Given the description of an element on the screen output the (x, y) to click on. 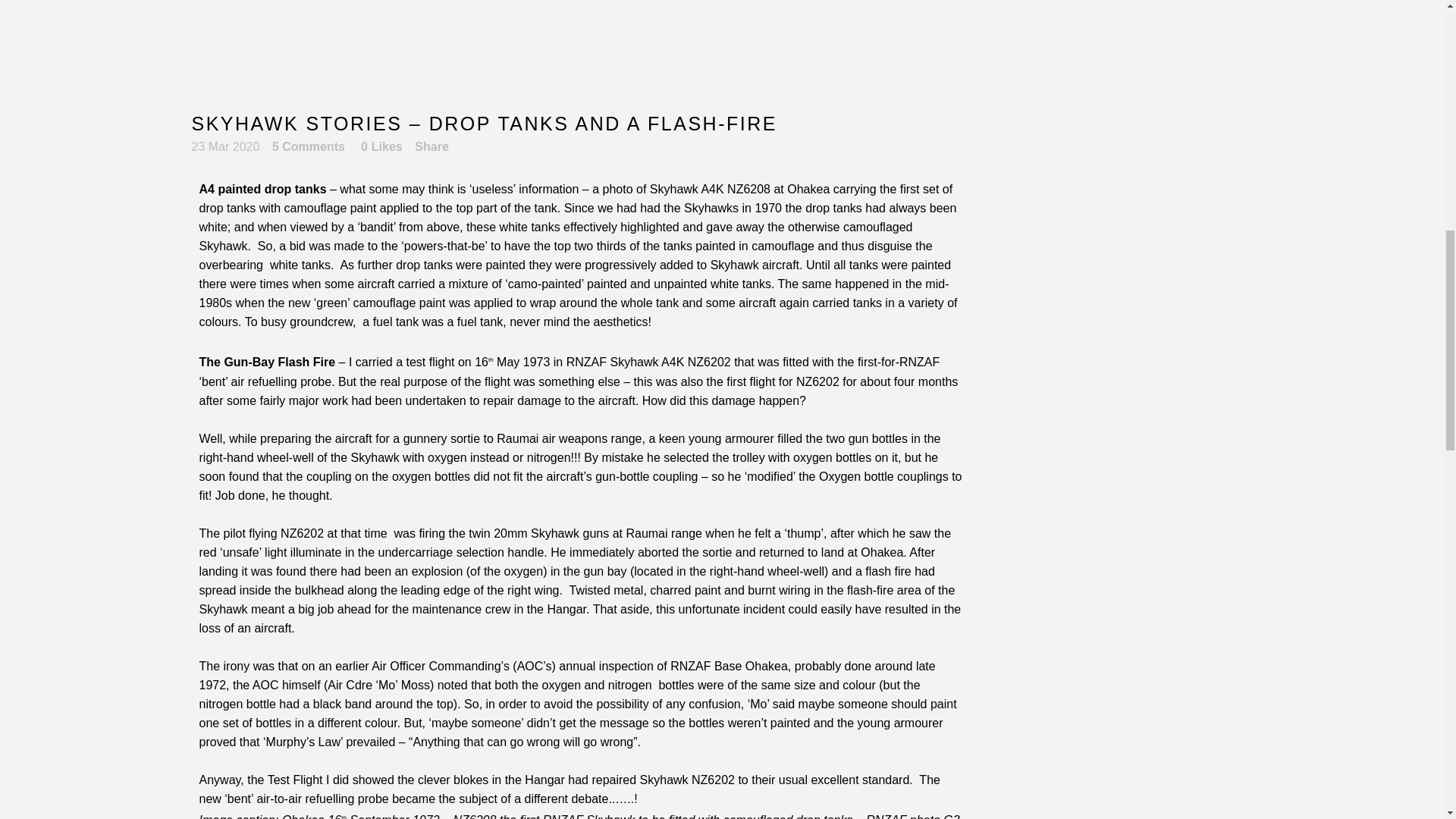
Like this (382, 146)
0 Likes (382, 146)
5 Comments (308, 146)
Share (431, 146)
